Given the description of an element on the screen output the (x, y) to click on. 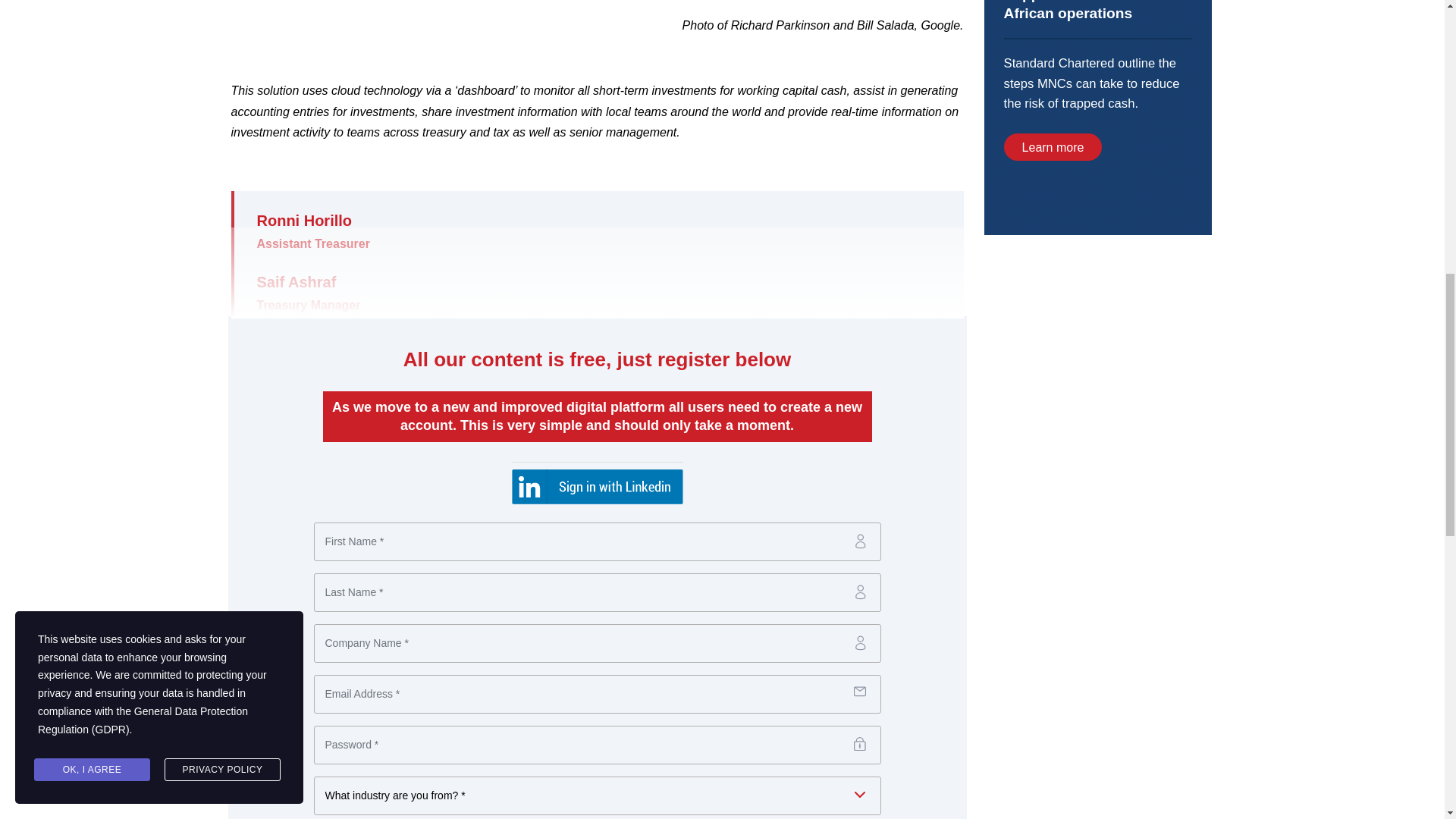
3rd party ad content (1097, 362)
3rd party ad content (1097, 117)
